Given the description of an element on the screen output the (x, y) to click on. 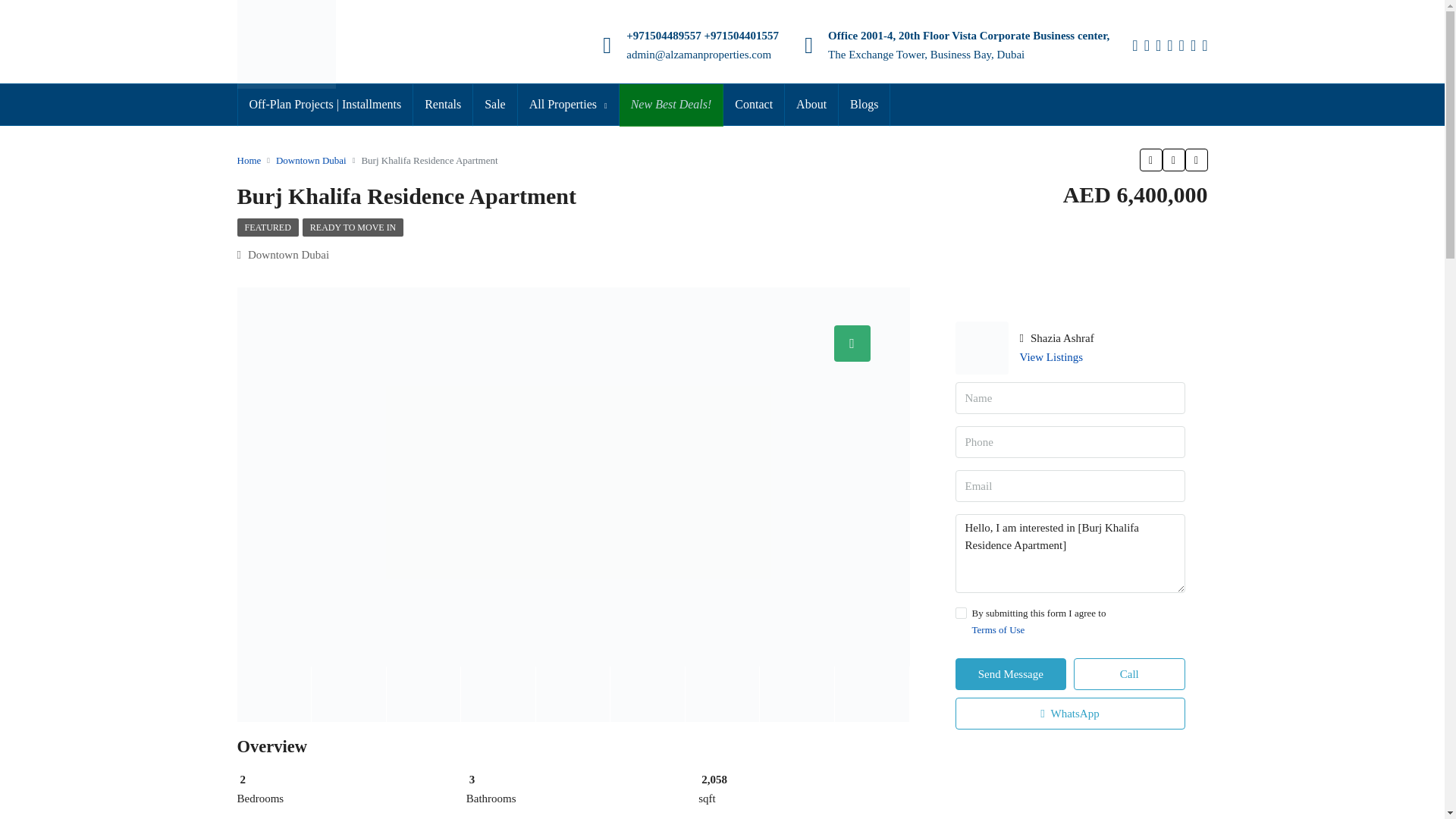
Rentals (442, 104)
About (811, 104)
Blogs (863, 104)
New Best Deals! (671, 104)
Sale (494, 104)
Contact (753, 104)
All Properties (568, 105)
